Given the description of an element on the screen output the (x, y) to click on. 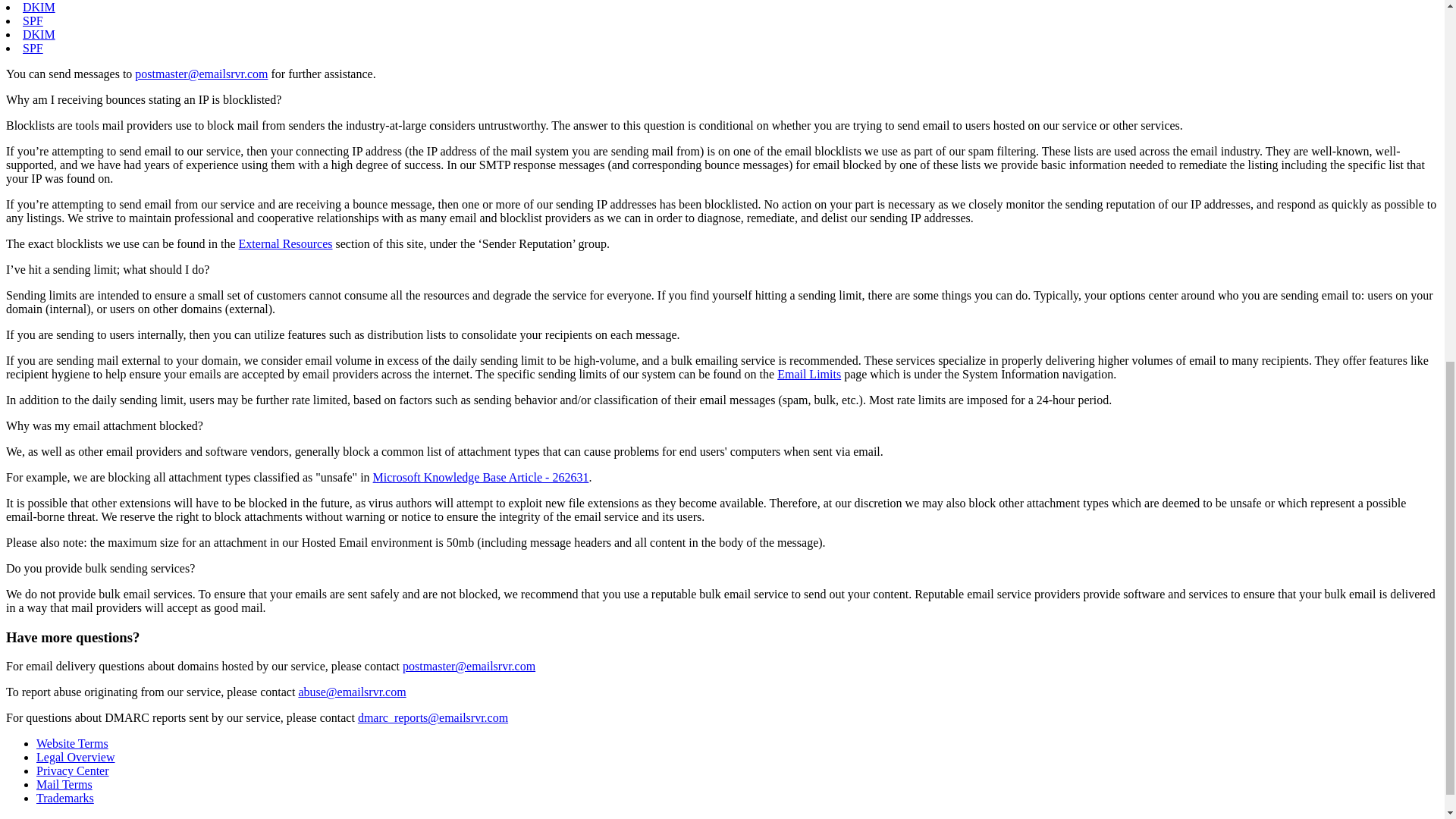
Website Terms (71, 743)
SPF (33, 20)
Privacy Center (72, 770)
Microsoft Knowledge Base Article - 262631 (480, 477)
External Resources (285, 243)
DKIM (39, 6)
SPF (33, 47)
Email Limits (809, 373)
Mail Terms (64, 784)
DKIM (39, 33)
Legal Overview (75, 757)
Trademarks (65, 797)
